Given the description of an element on the screen output the (x, y) to click on. 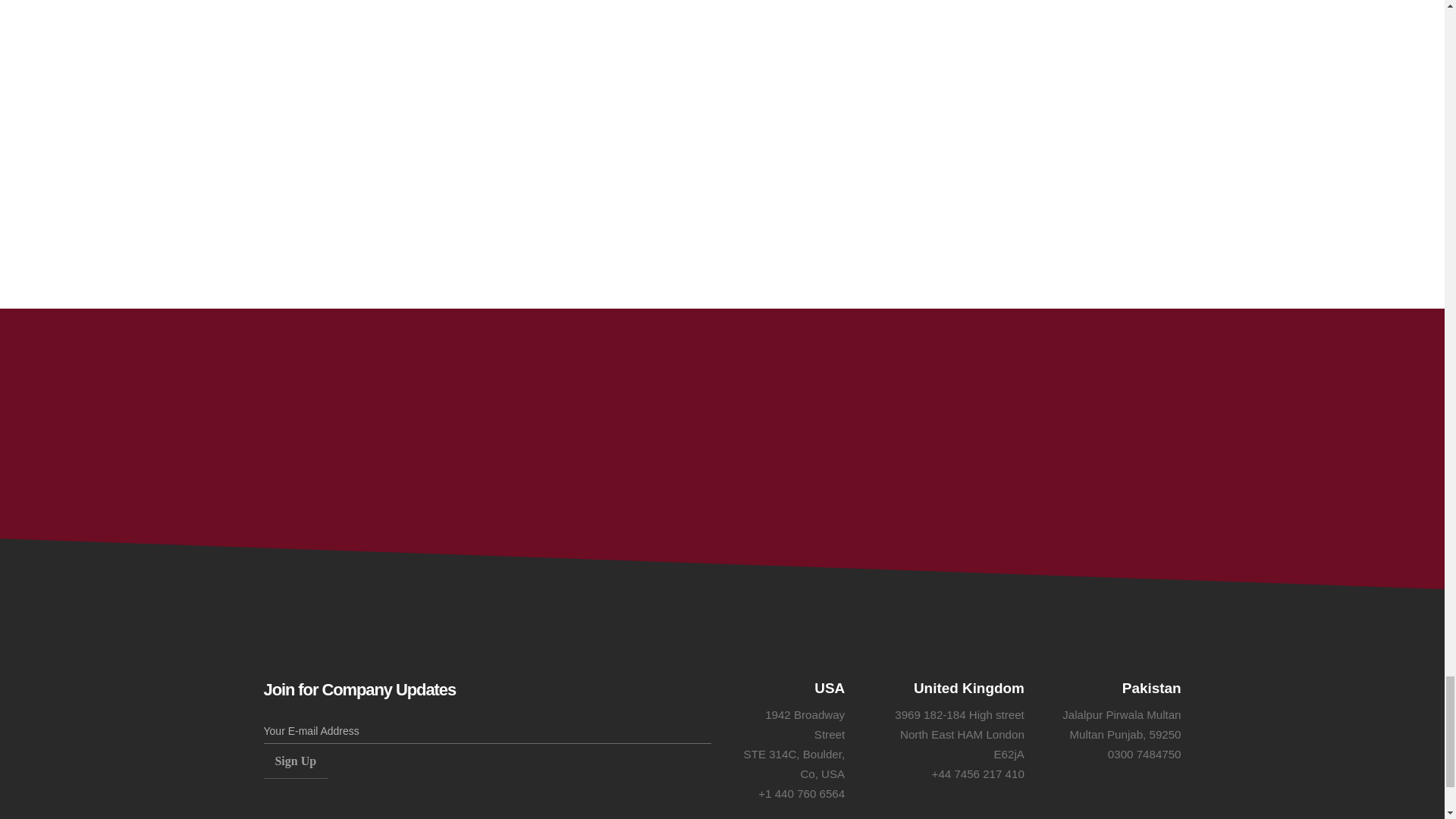
Sign Up (296, 760)
